Given the description of an element on the screen output the (x, y) to click on. 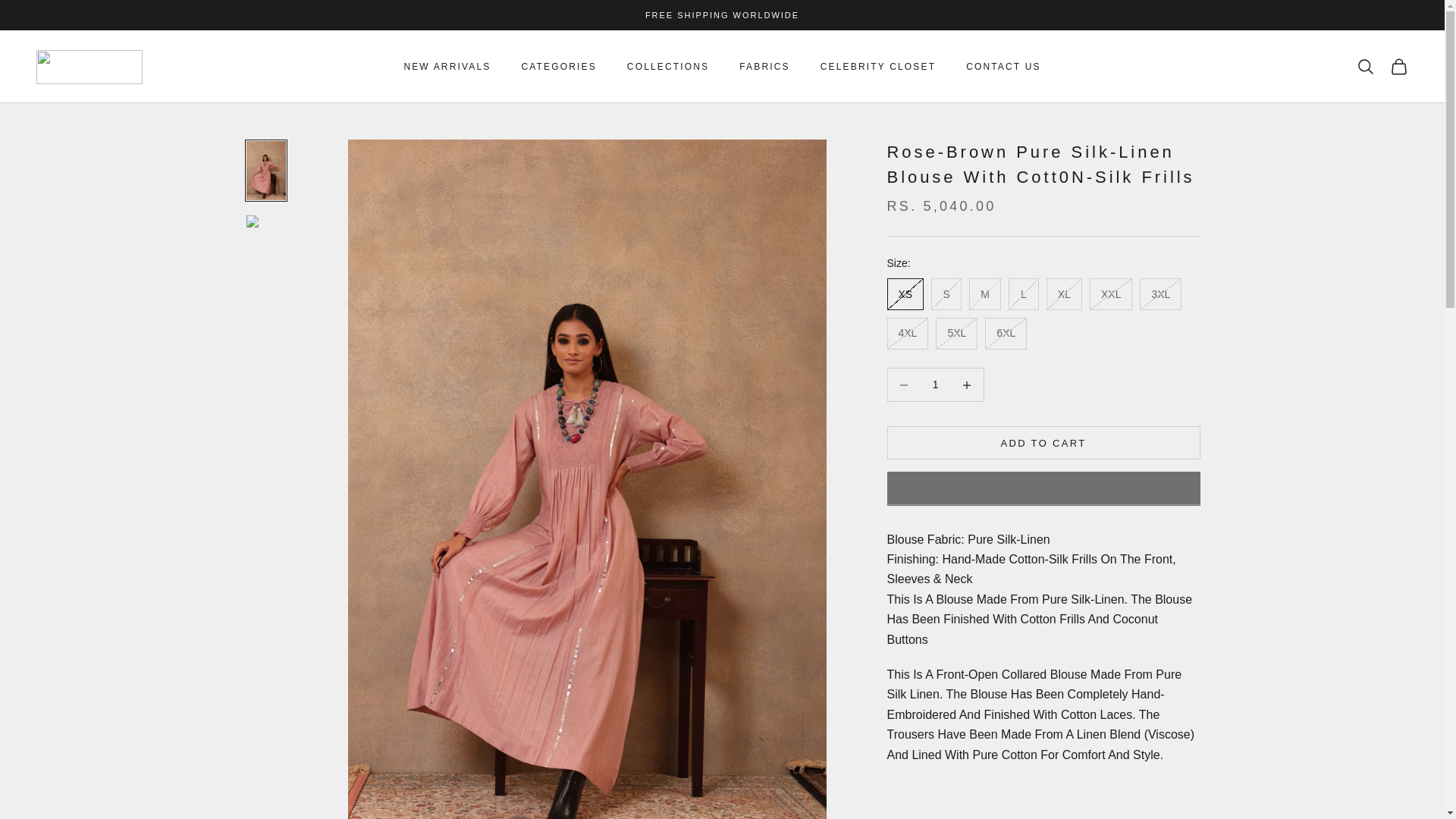
Open search (1365, 66)
CELEBRITY CLOSET (878, 66)
NEW ARRIVALS (446, 66)
1 (935, 384)
